Given the description of an element on the screen output the (x, y) to click on. 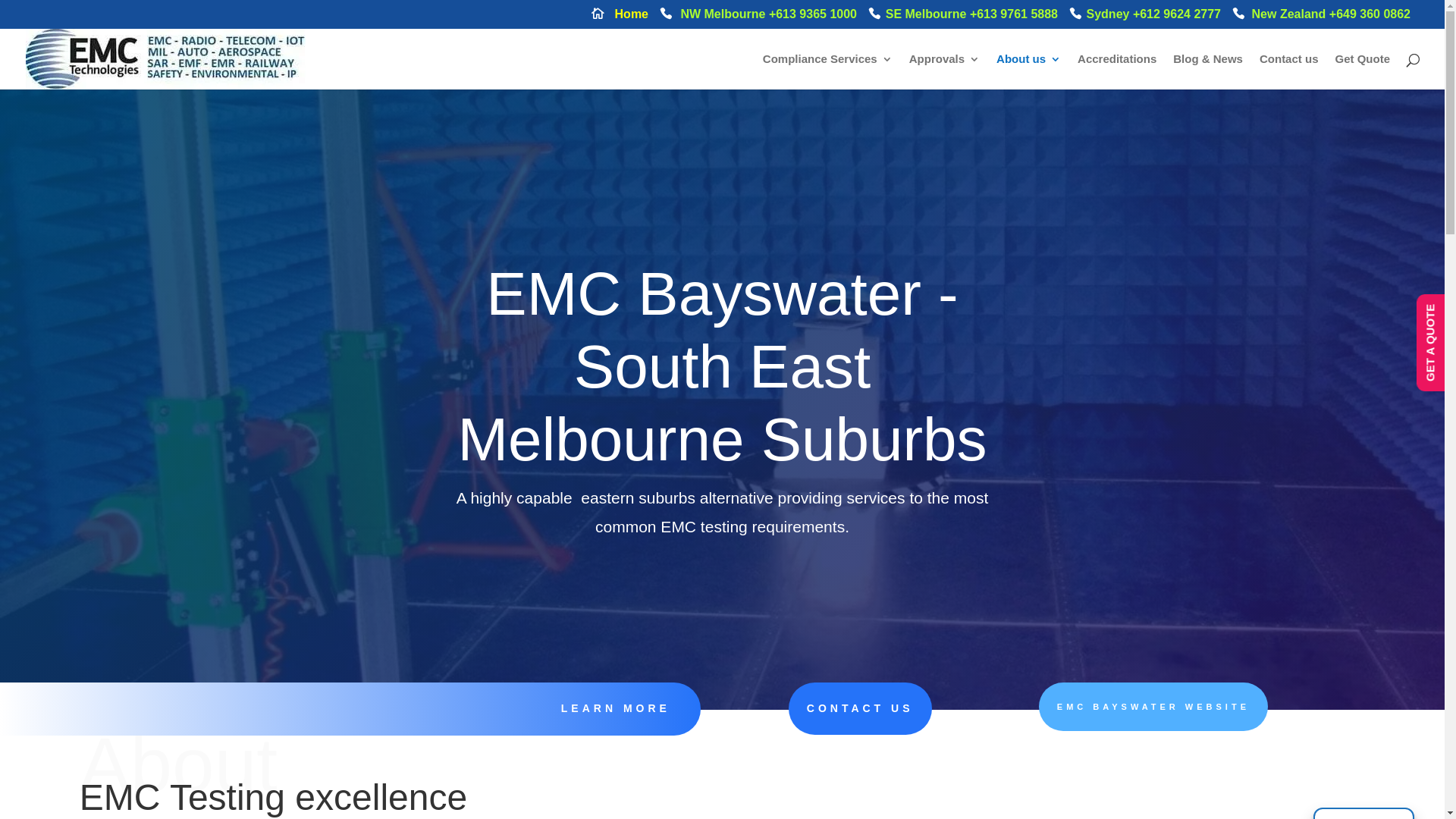
NW Melbourne +613 9365 1000 Element type: text (757, 18)
About us Element type: text (1028, 71)
SE Melbourne +613 9761 5888 Element type: text (962, 18)
Approvals Element type: text (944, 71)
EMC BAYSWATER WEBSITE Element type: text (1152, 706)
New Zealand +649 360 0862 Element type: text (1321, 18)
Accreditations Element type: text (1116, 71)
Sydney +612 9624 2777 Element type: text (1144, 18)
Contact us Element type: text (1288, 71)
Blog & News Element type: text (1207, 71)
CONTACT US Element type: text (859, 708)
LEARN MORE Element type: text (615, 708)
Get Quote Element type: text (1362, 71)
Home Element type: text (619, 18)
Compliance Services Element type: text (827, 71)
